Given the description of an element on the screen output the (x, y) to click on. 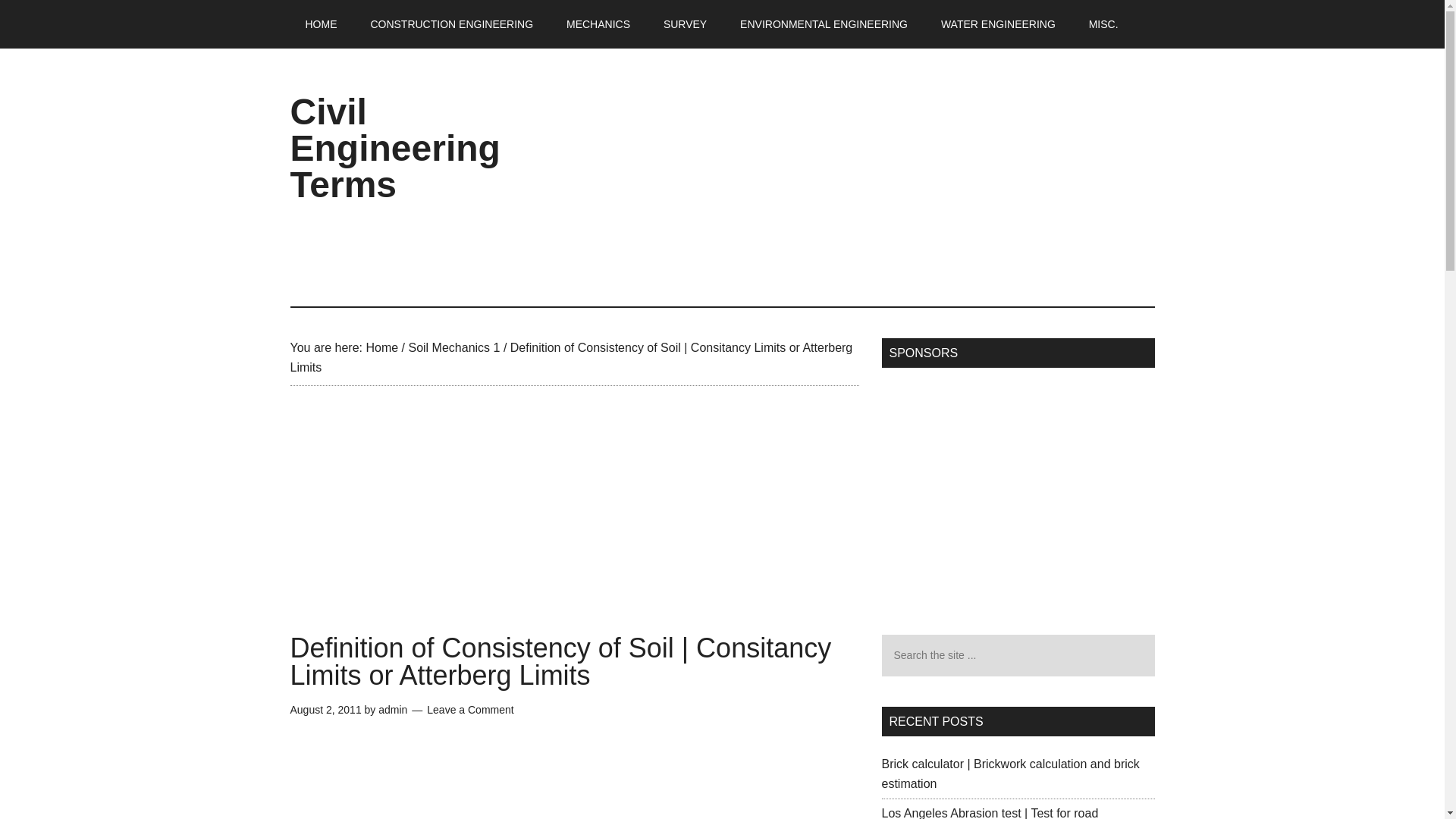
ENVIRONMENTAL ENGINEERING (824, 24)
SURVEY (684, 24)
WATER ENGINEERING (998, 24)
Advertisement (878, 177)
MECHANICS (598, 24)
MISC. (1104, 24)
HOME (320, 24)
Advertisement (1007, 491)
